Given the description of an element on the screen output the (x, y) to click on. 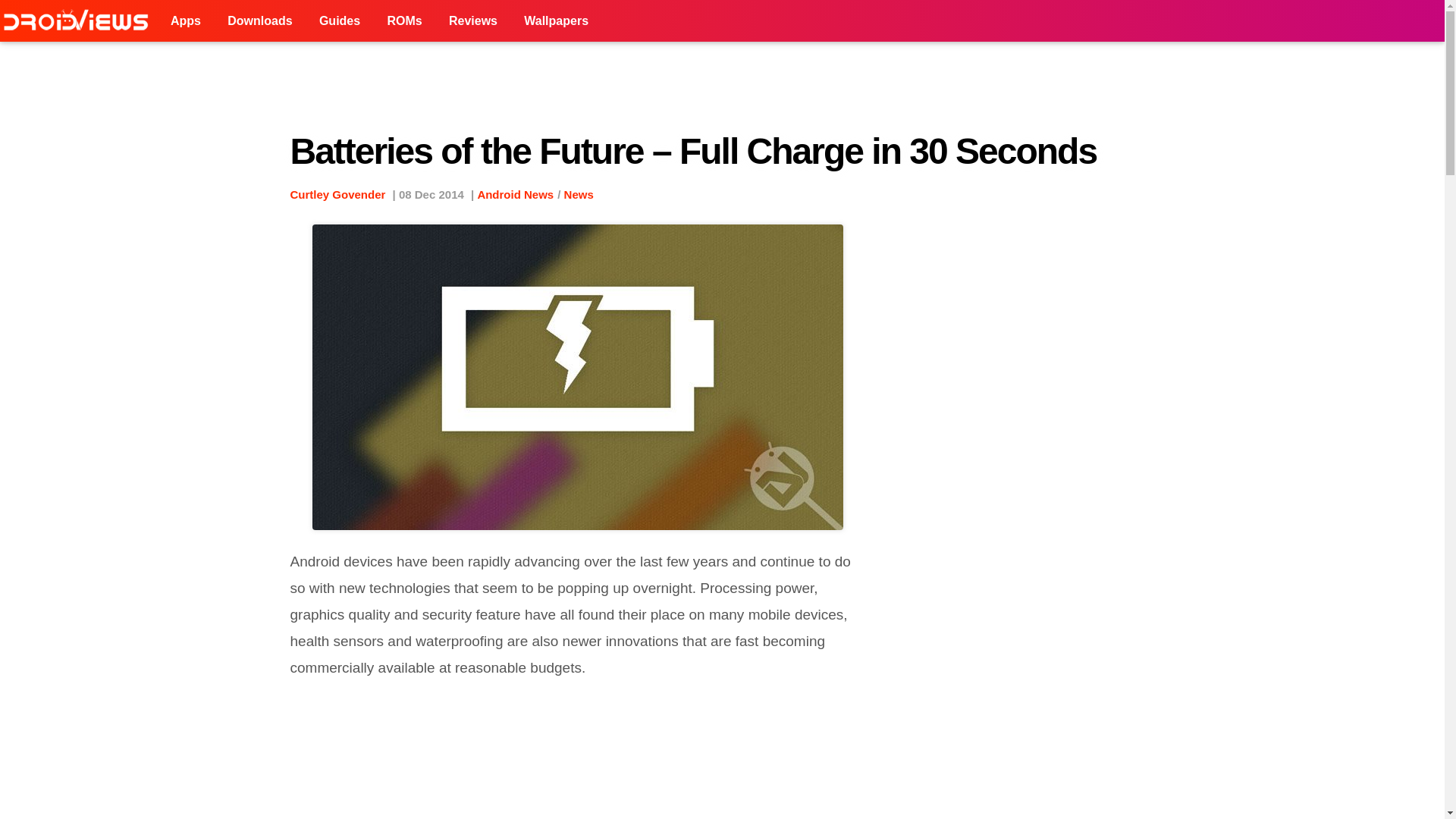
Wallpapers (555, 20)
ROMs (403, 20)
Downloads (258, 20)
Reviews (473, 20)
Curtley Govender (337, 194)
News (579, 194)
Guides (339, 20)
Android News (515, 194)
DroidViews (79, 20)
Apps (185, 20)
